Given the description of an element on the screen output the (x, y) to click on. 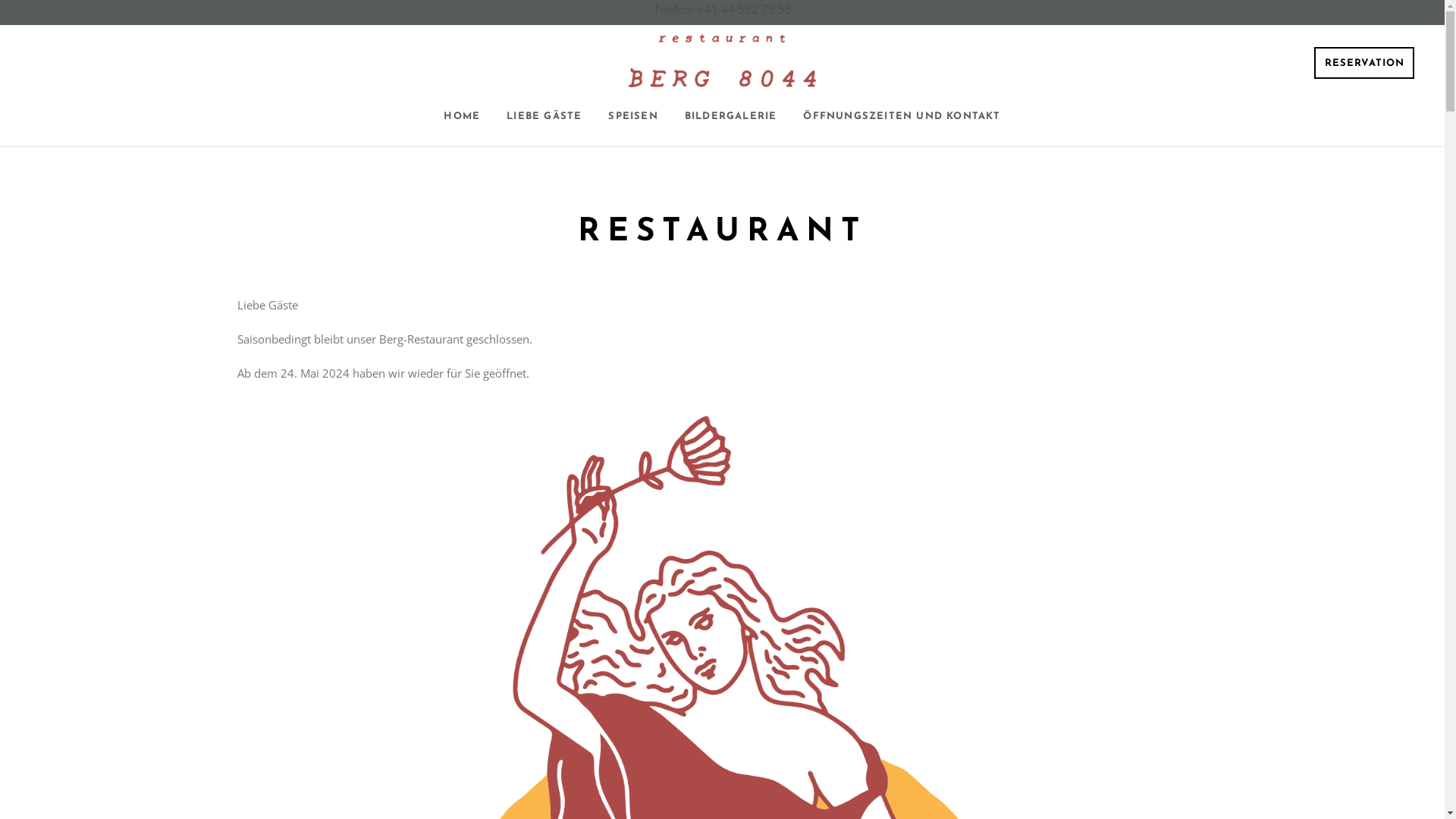
HOME Element type: text (461, 116)
Telefon: +41 44 552 75 55 Element type: text (722, 8)
BILDERGALERIE Element type: text (730, 116)
SPEISEN Element type: text (632, 116)
